Given the description of an element on the screen output the (x, y) to click on. 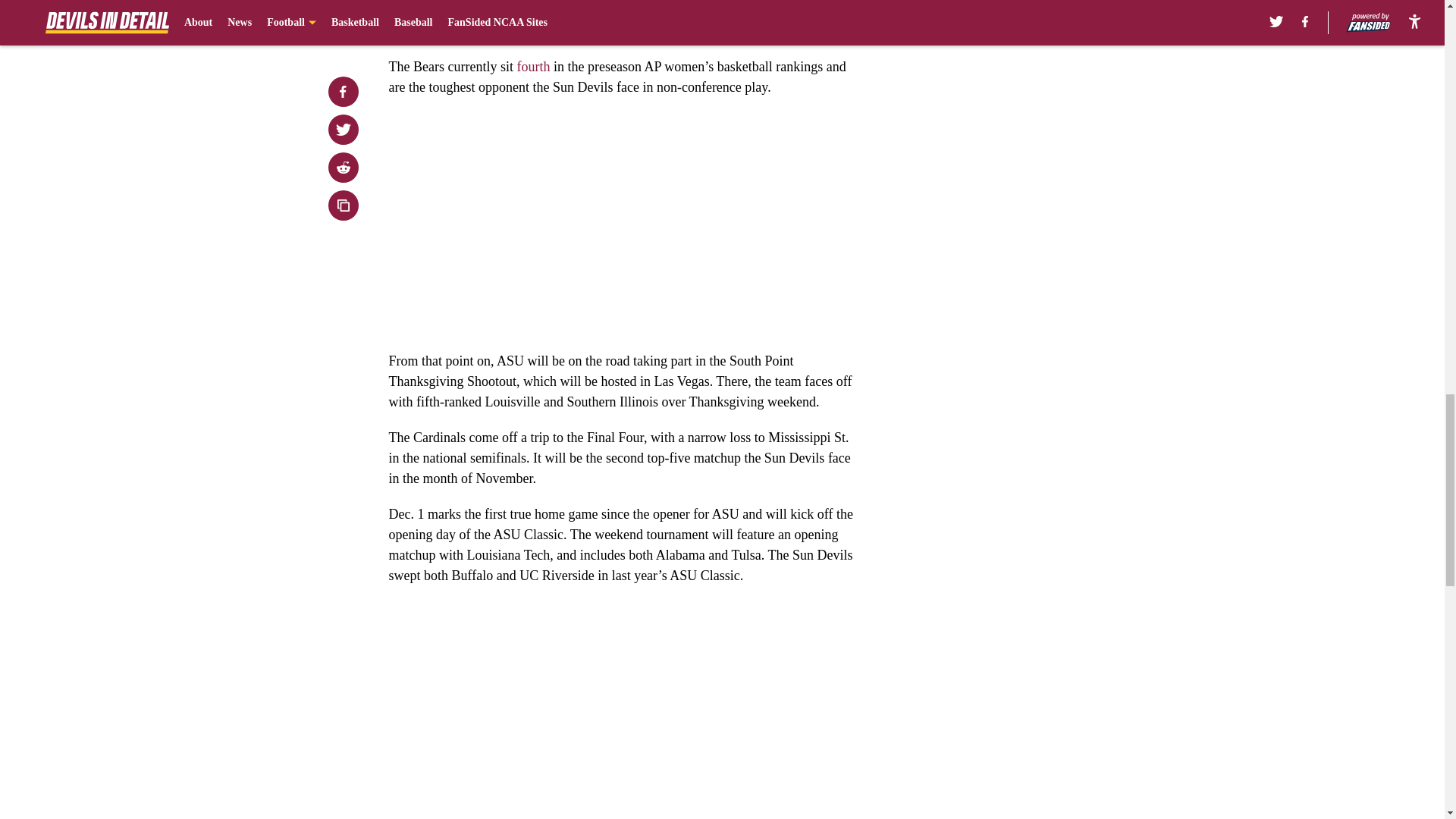
fourth (533, 66)
